Given the description of an element on the screen output the (x, y) to click on. 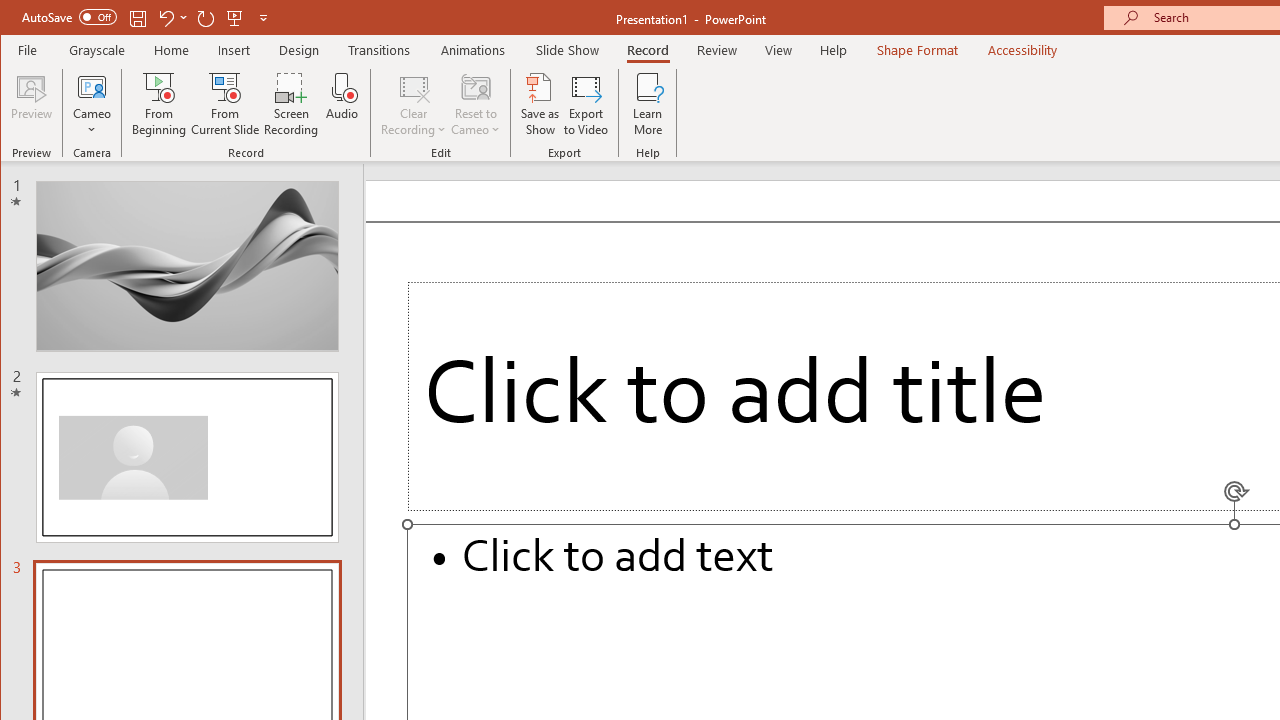
From Current Slide... (225, 104)
Export to Video (585, 104)
Grayscale (97, 50)
